Given the description of an element on the screen output the (x, y) to click on. 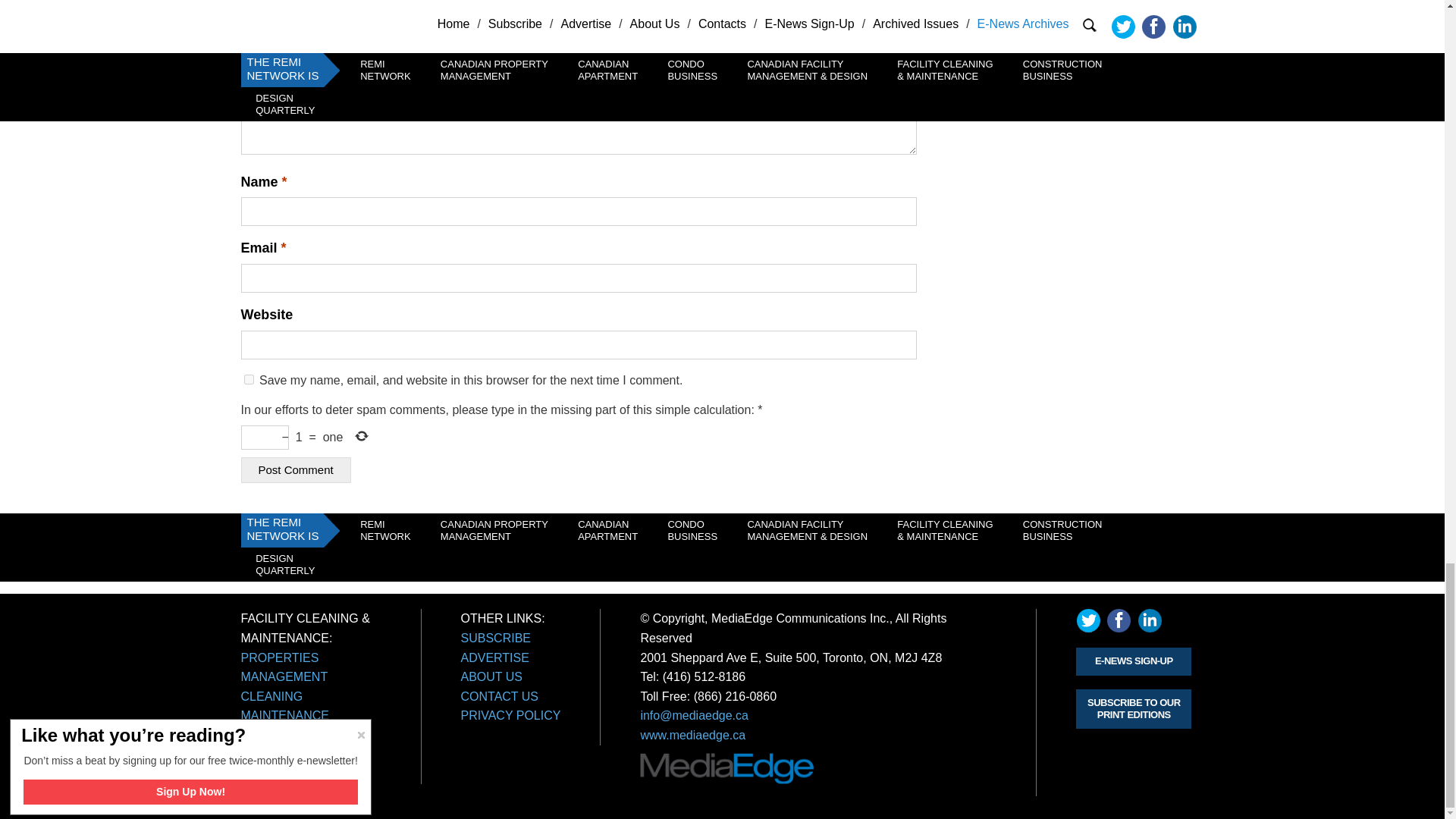
yes (248, 379)
Post Comment (295, 470)
